Given the description of an element on the screen output the (x, y) to click on. 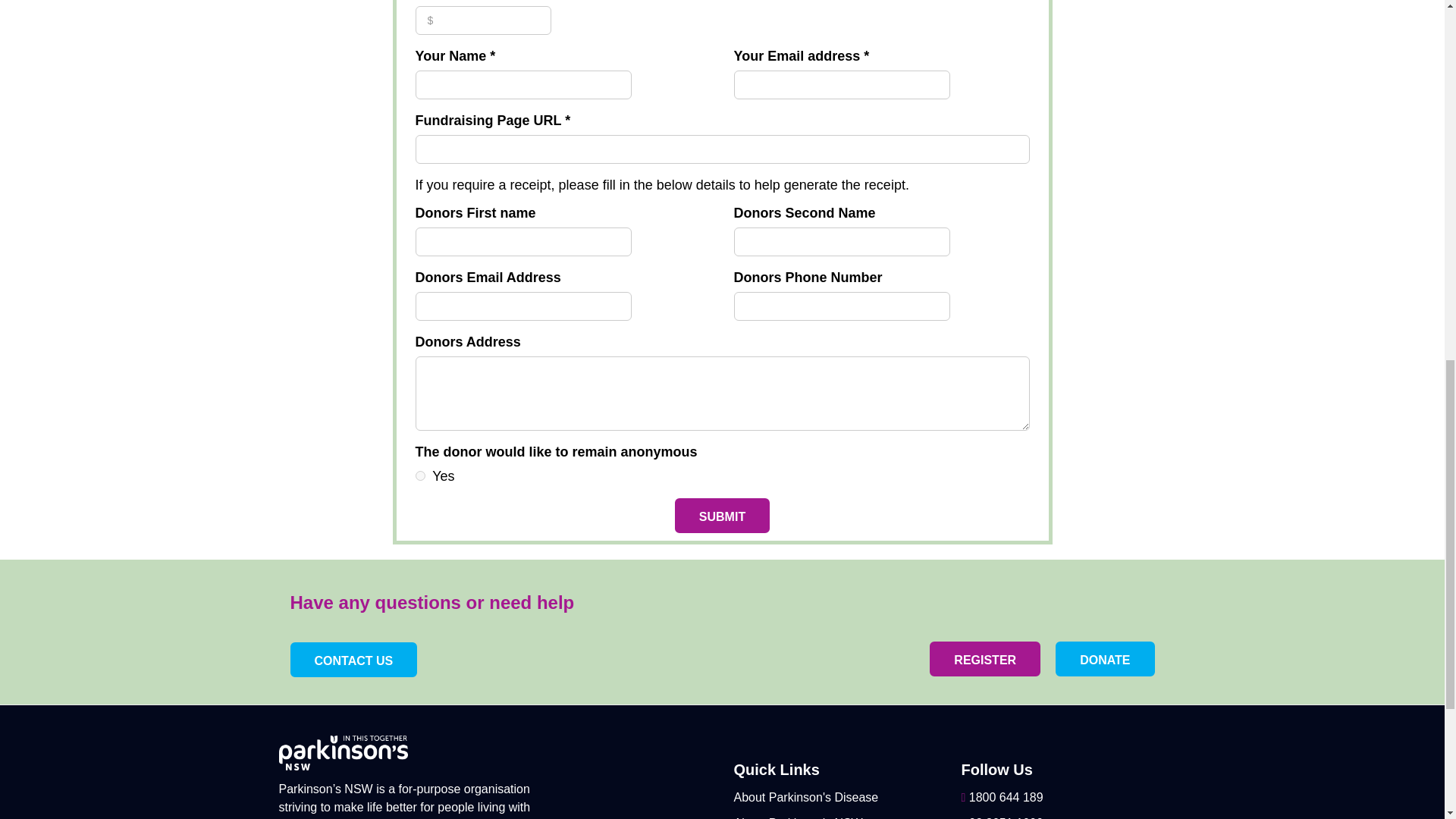
DONATE (1104, 658)
Yes (419, 475)
SUBMIT (722, 515)
CONTACT US (352, 659)
About Parkinson's Disease (805, 797)
About Parkinson's NSW (797, 817)
REGISTER (985, 658)
